Given the description of an element on the screen output the (x, y) to click on. 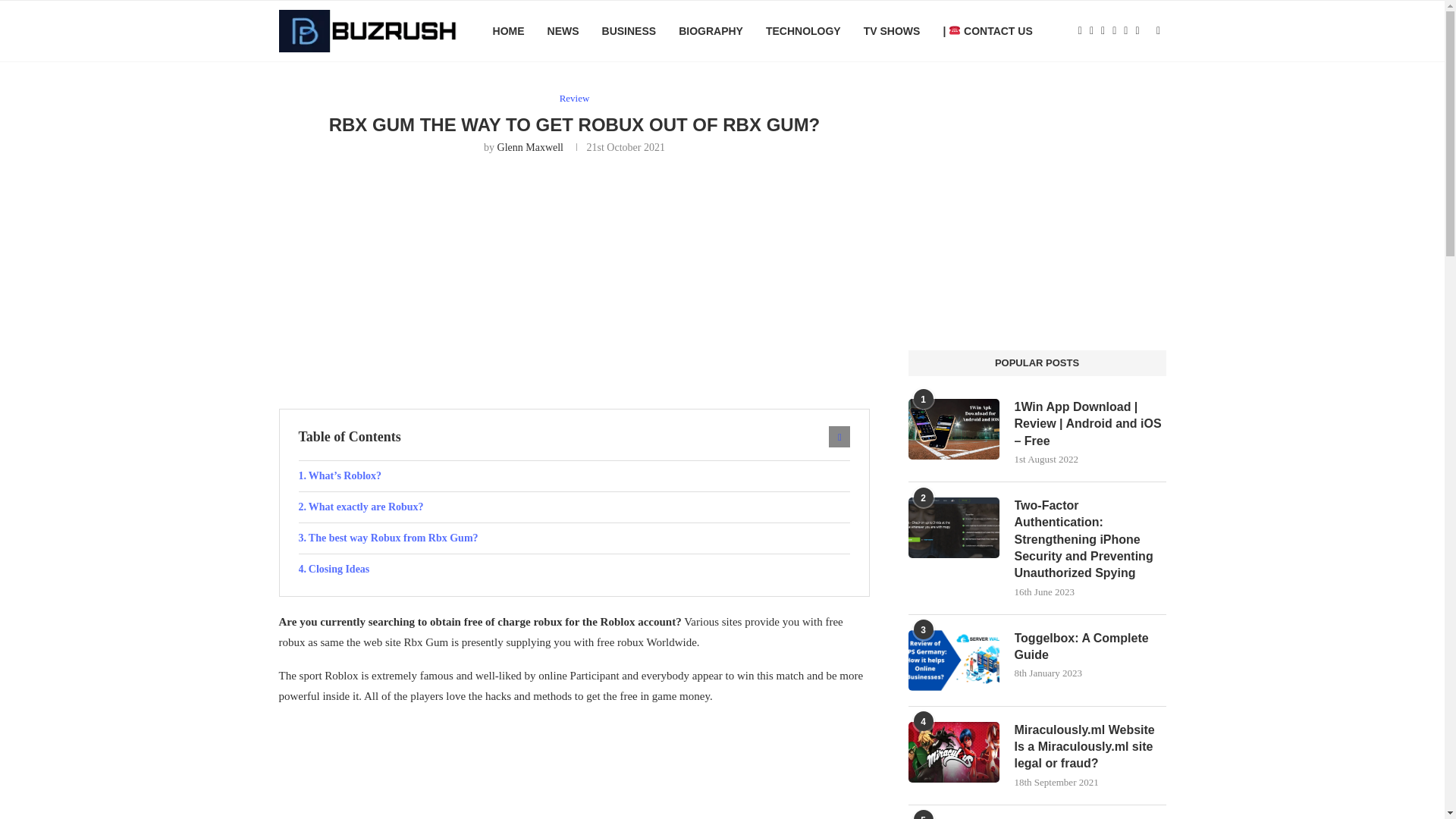
BIOGRAPHY (710, 30)
What exactly are Robux? (574, 507)
The best way Robux from Rbx Gum? (574, 538)
TV SHOWS (891, 30)
Closing Ideas (574, 569)
Review (574, 98)
Advertisement (574, 769)
Closing Ideas (574, 569)
TECHNOLOGY (803, 30)
The best way Robux from Rbx Gum? (574, 538)
